Given the description of an element on the screen output the (x, y) to click on. 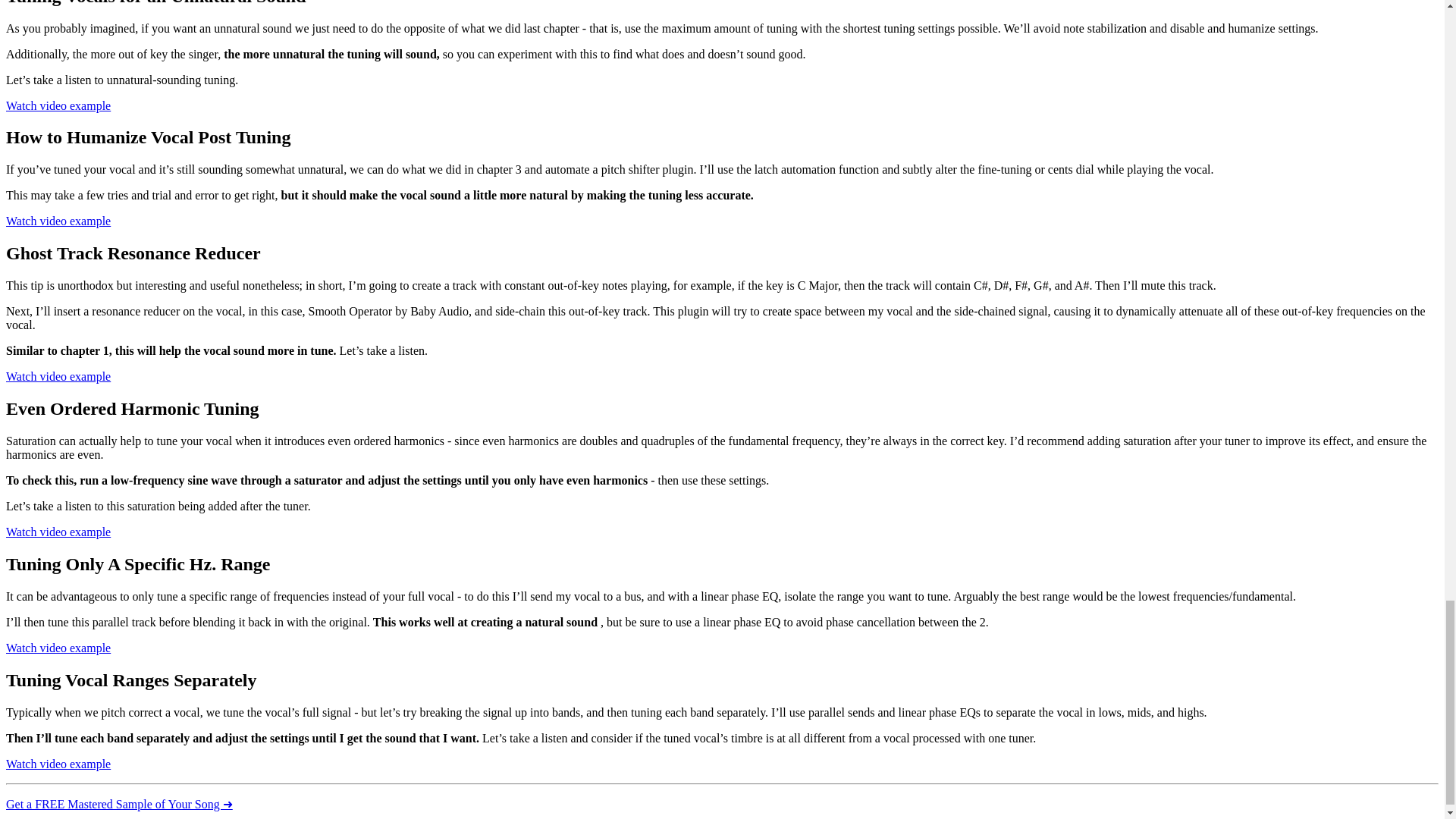
Watch video example (57, 220)
Watch video example (57, 647)
Watch video example (57, 376)
Watch video example (57, 763)
Watch video example (57, 104)
Watch video example (57, 531)
